Given the description of an element on the screen output the (x, y) to click on. 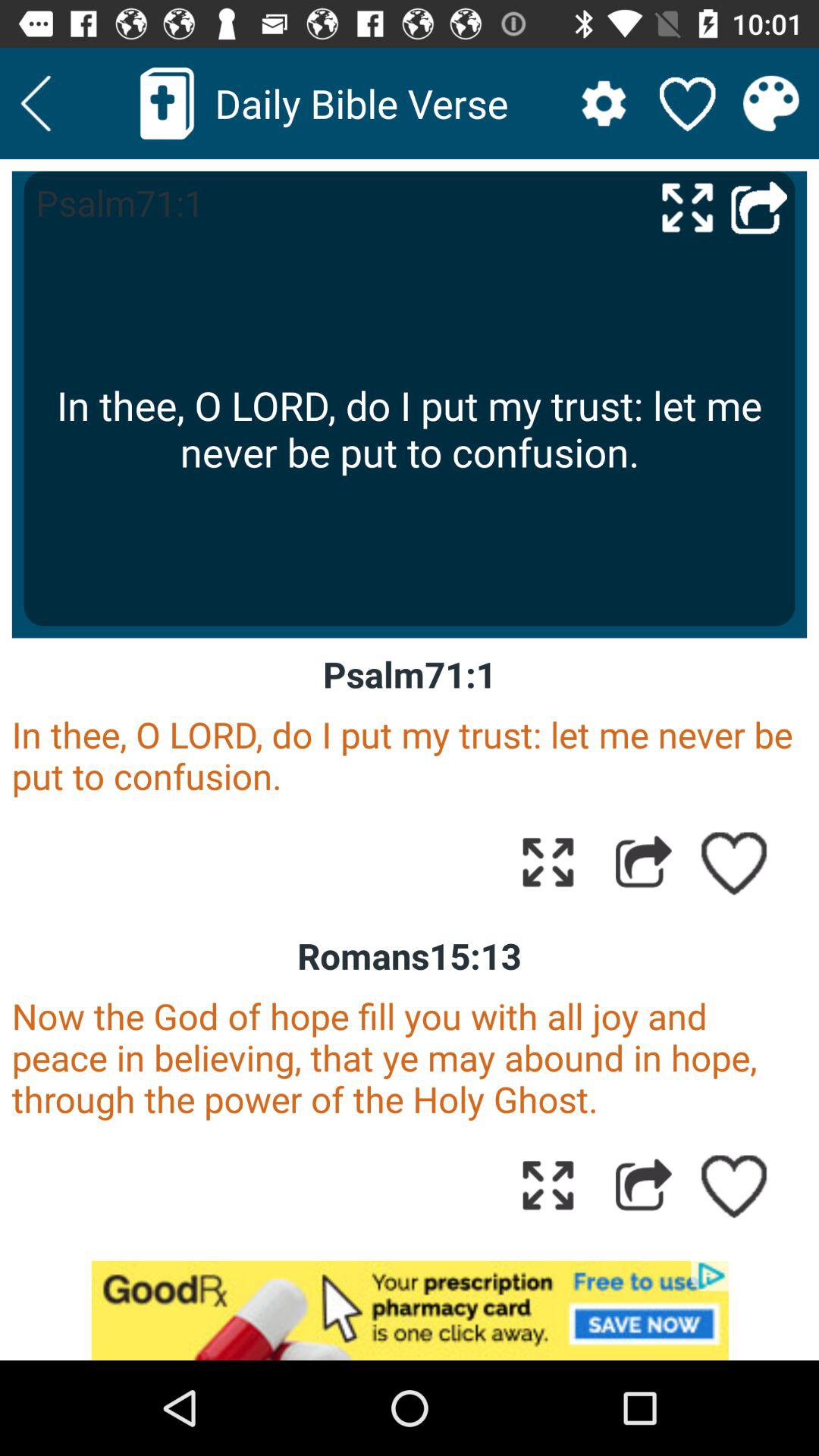
rotate of the video (687, 206)
